Given the description of an element on the screen output the (x, y) to click on. 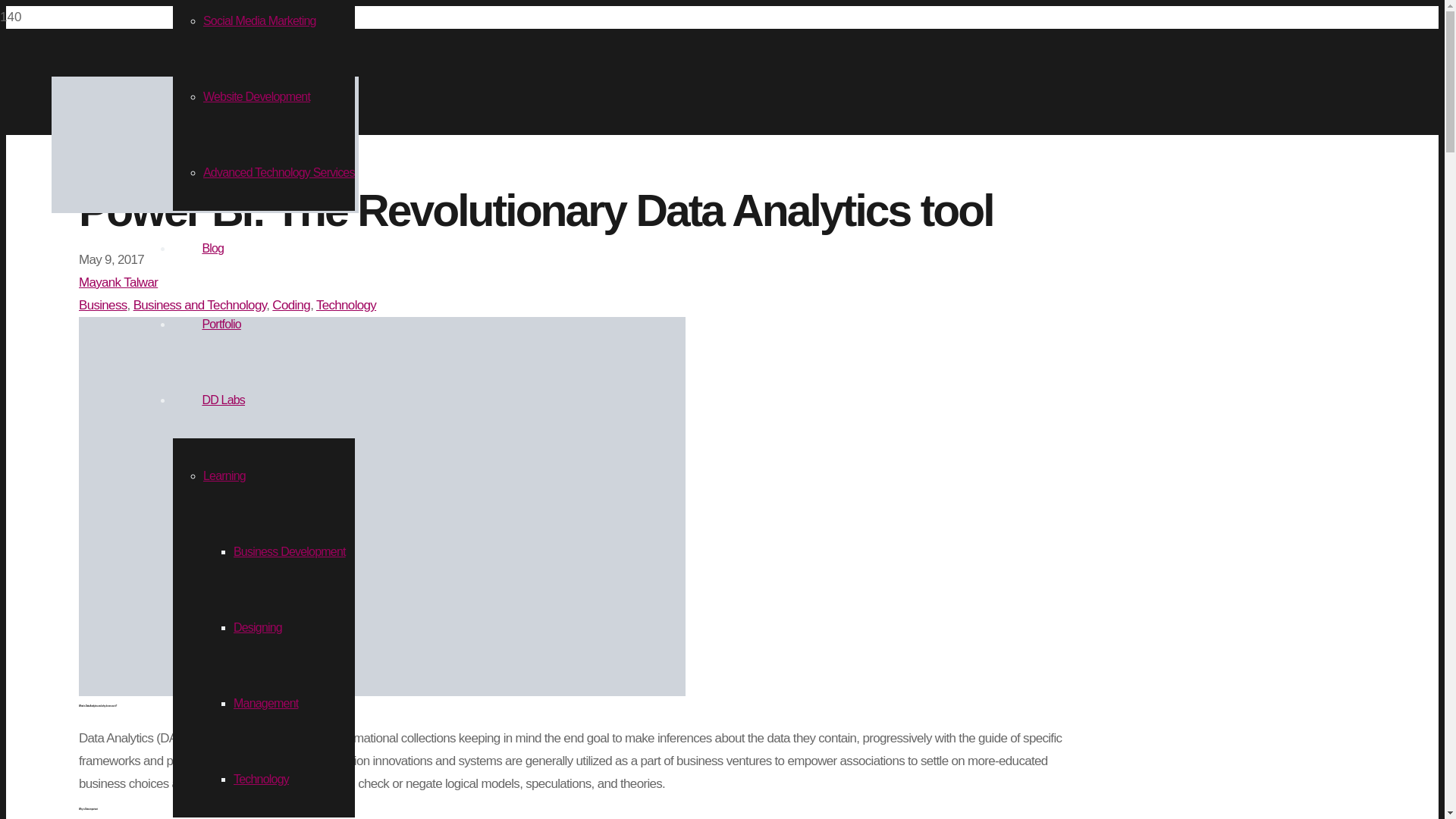
DD Labs (223, 399)
Business and Technology (199, 305)
Management (265, 703)
Website Development (256, 96)
Advanced Technology Services (279, 172)
Business (103, 305)
Social Media Marketing (259, 20)
Technology (260, 779)
Coding (291, 305)
Learning (224, 475)
